Given the description of an element on the screen output the (x, y) to click on. 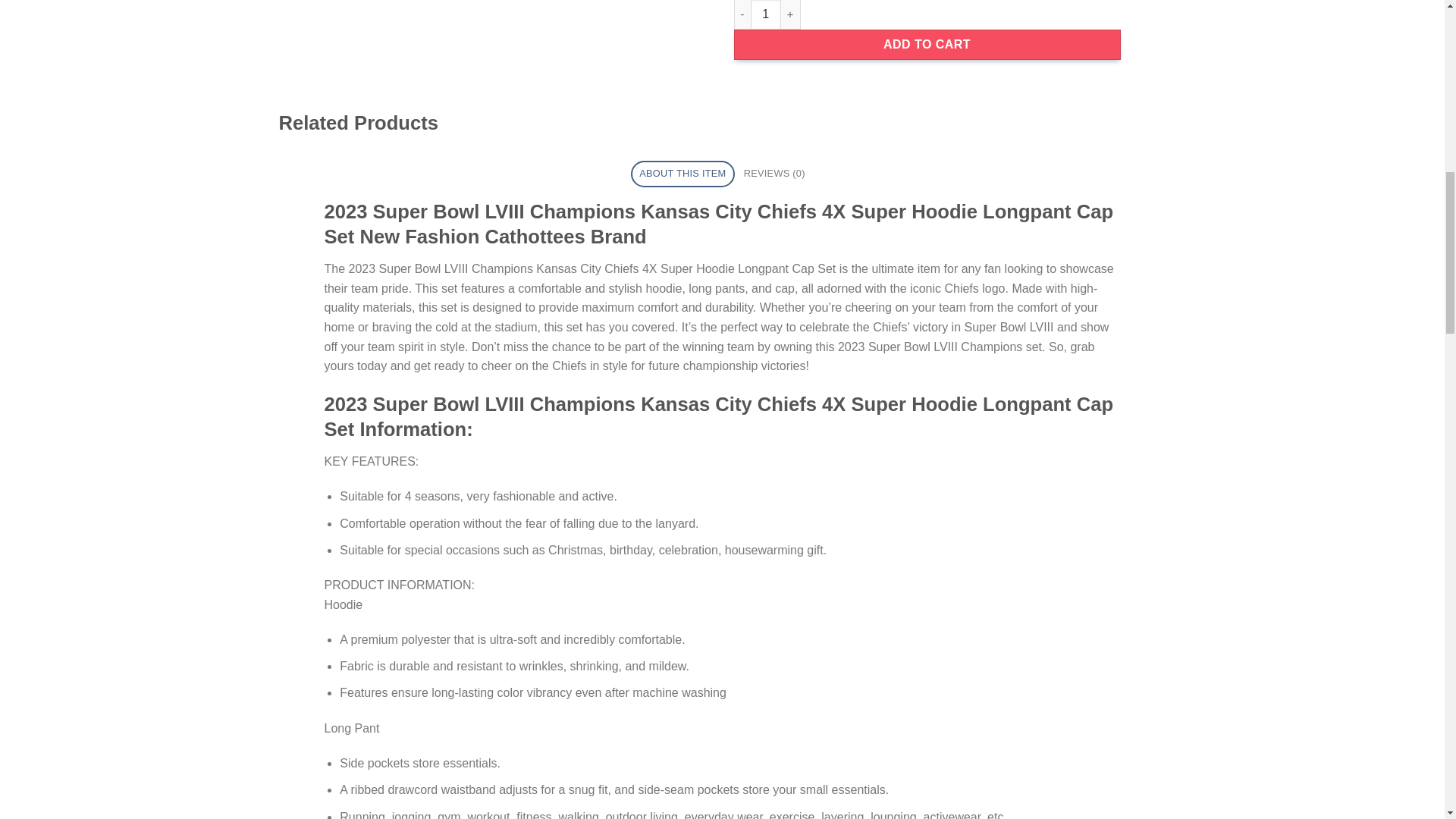
1 (765, 14)
- (742, 14)
